Given the description of an element on the screen output the (x, y) to click on. 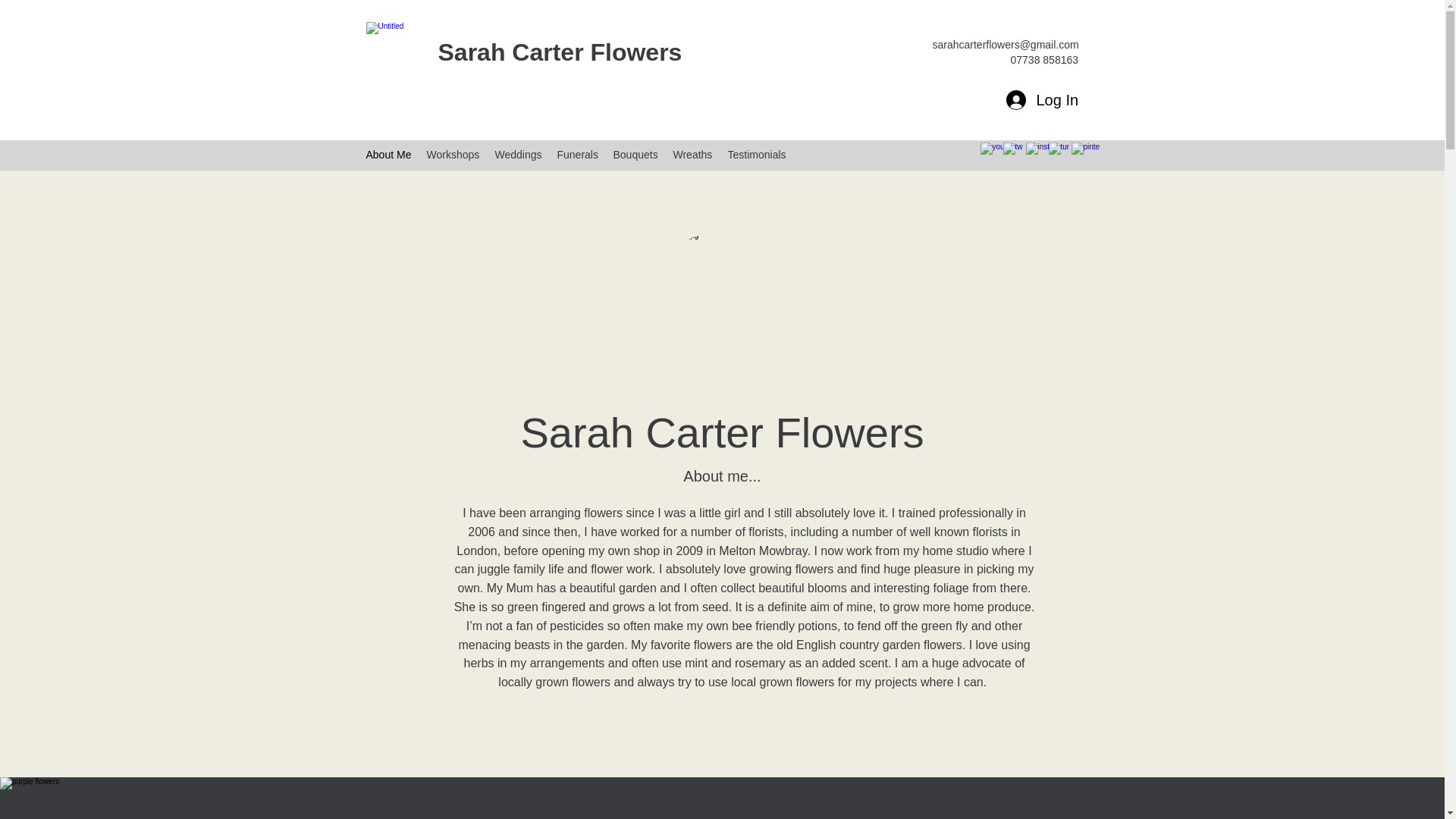
Testimonials (756, 155)
Log In (1040, 100)
Workshops (452, 155)
Wreaths (692, 155)
Bouquets (635, 155)
Weddings (517, 155)
Funerals (576, 155)
About Me (388, 155)
